Given the description of an element on the screen output the (x, y) to click on. 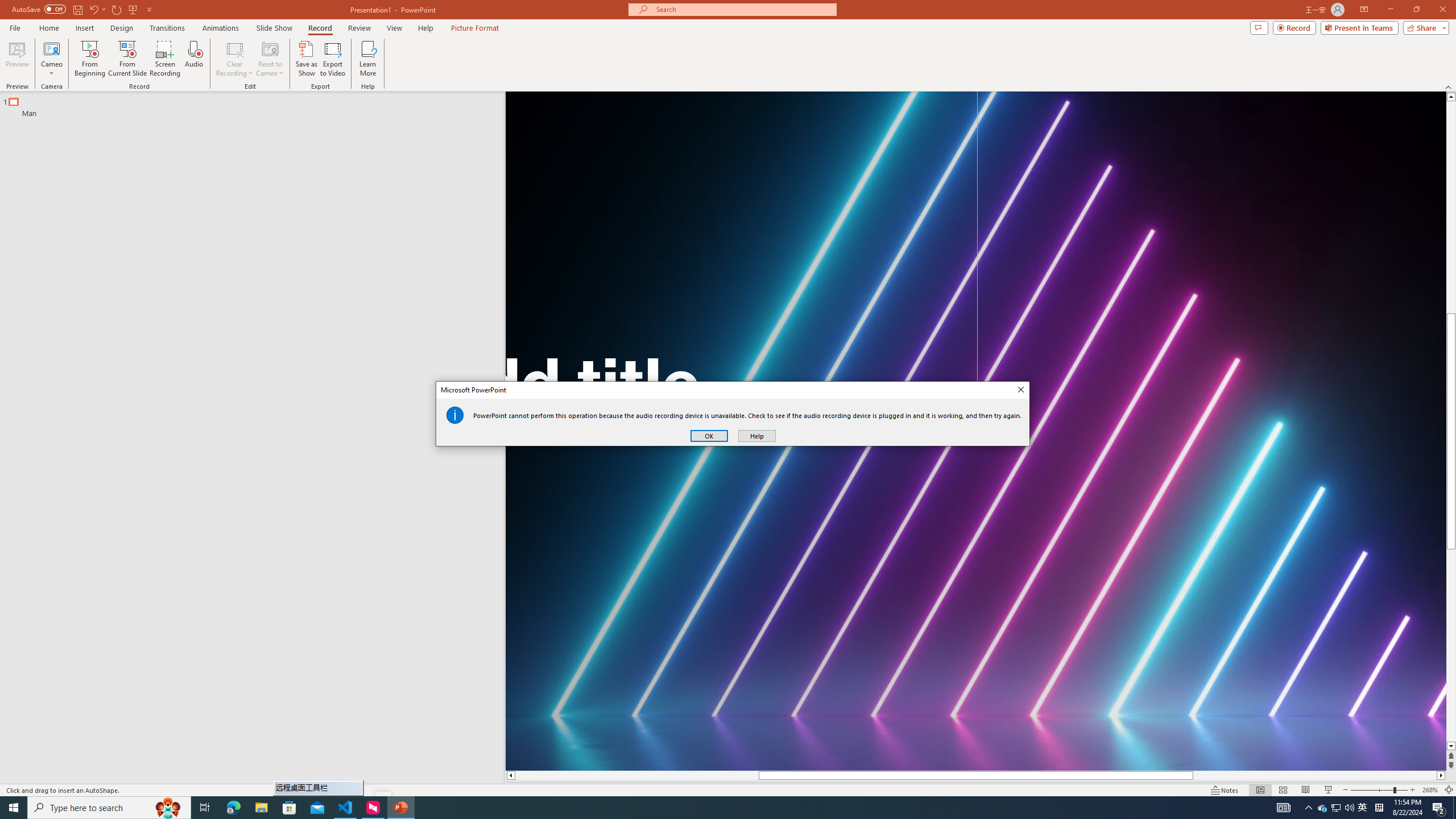
Picture Format (475, 28)
